Given the description of an element on the screen output the (x, y) to click on. 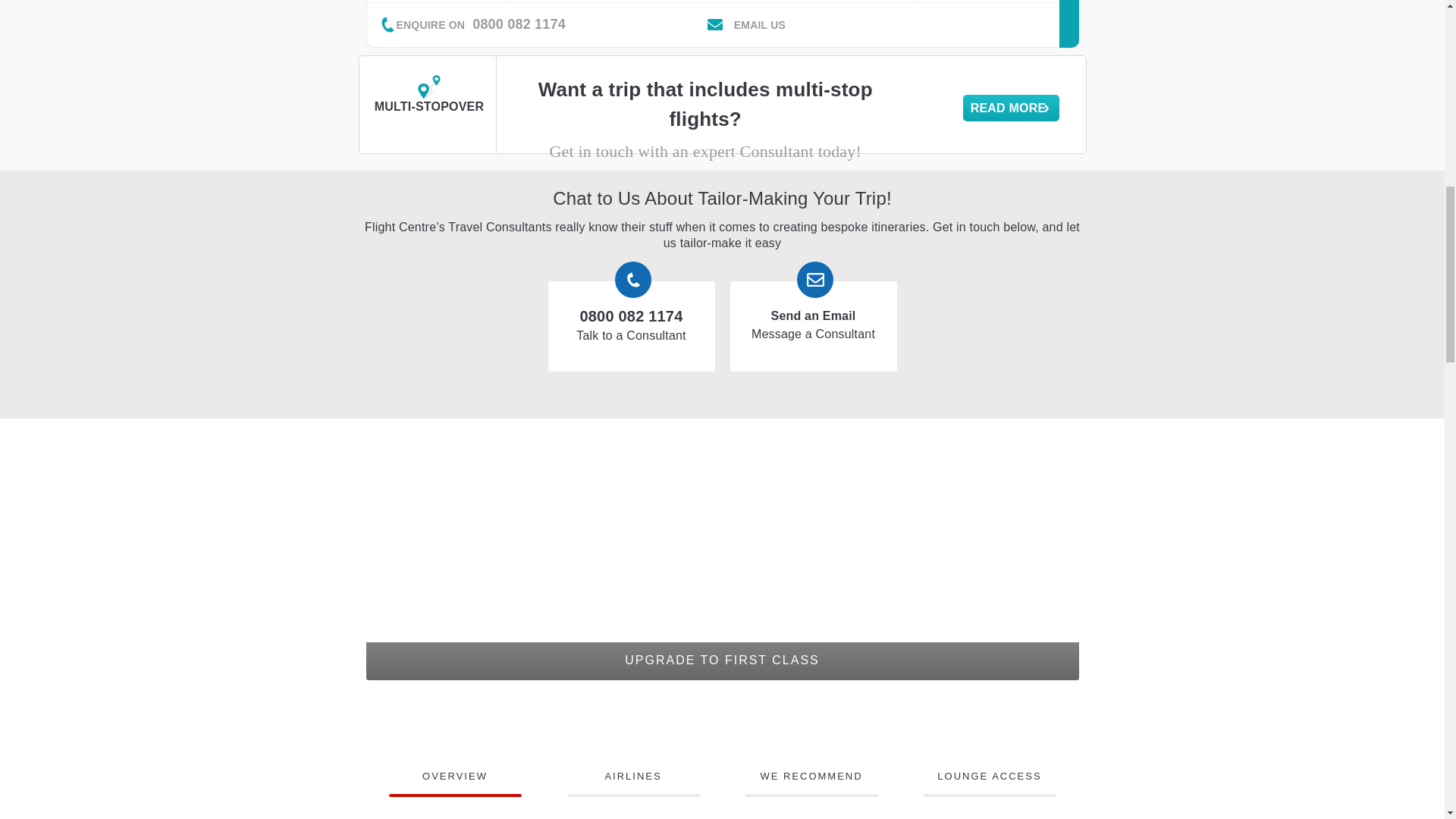
EMAIL US (759, 24)
0800 082 1174 (518, 23)
